Given the description of an element on the screen output the (x, y) to click on. 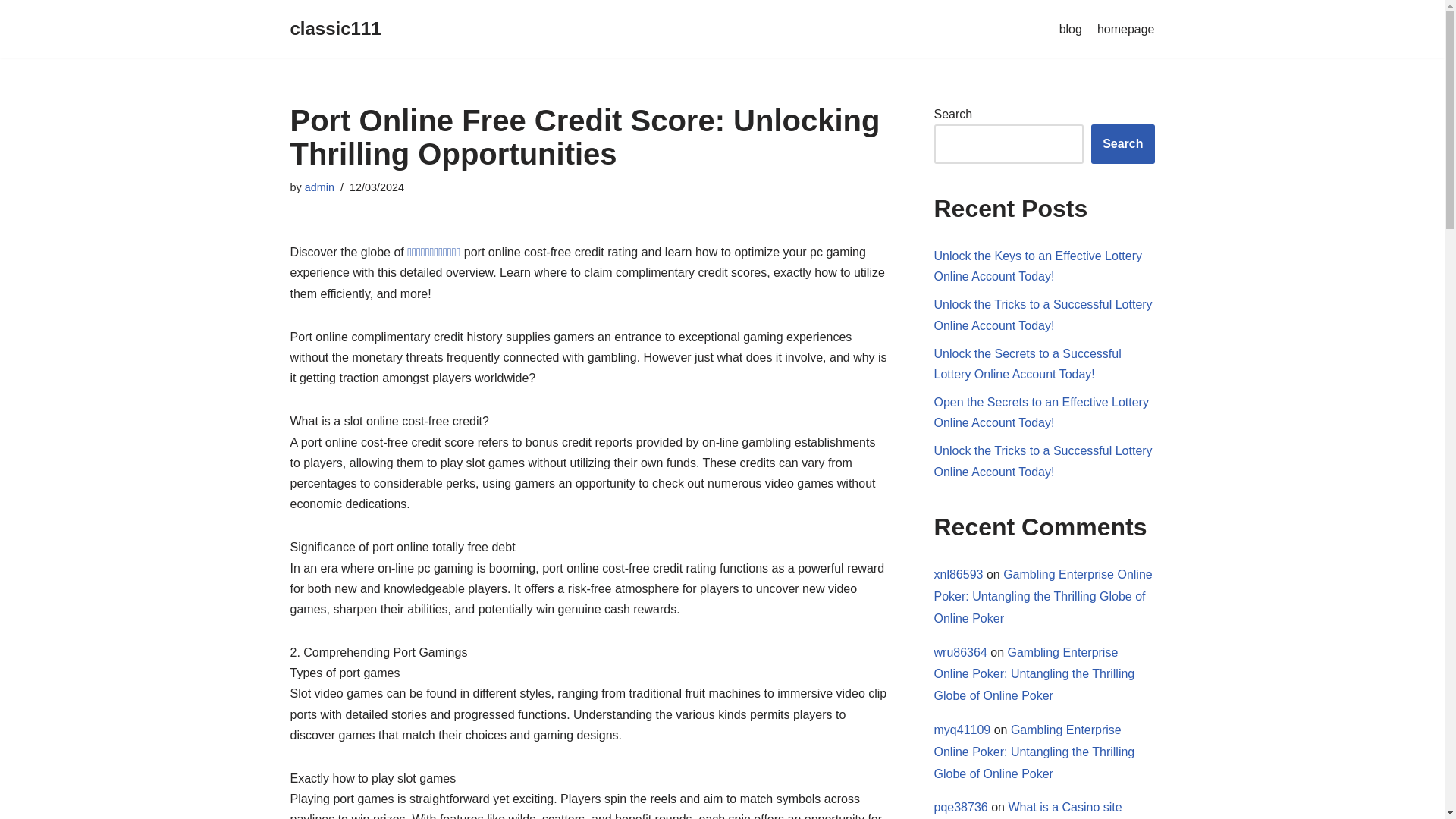
Posts by admin (319, 186)
blog (1070, 29)
admin (319, 186)
classic111 (334, 29)
xnl86593 (959, 574)
What is a Casino site Online? (1028, 809)
wru86364 (960, 652)
pqe38736 (961, 807)
homepage (1125, 29)
